Given the description of an element on the screen output the (x, y) to click on. 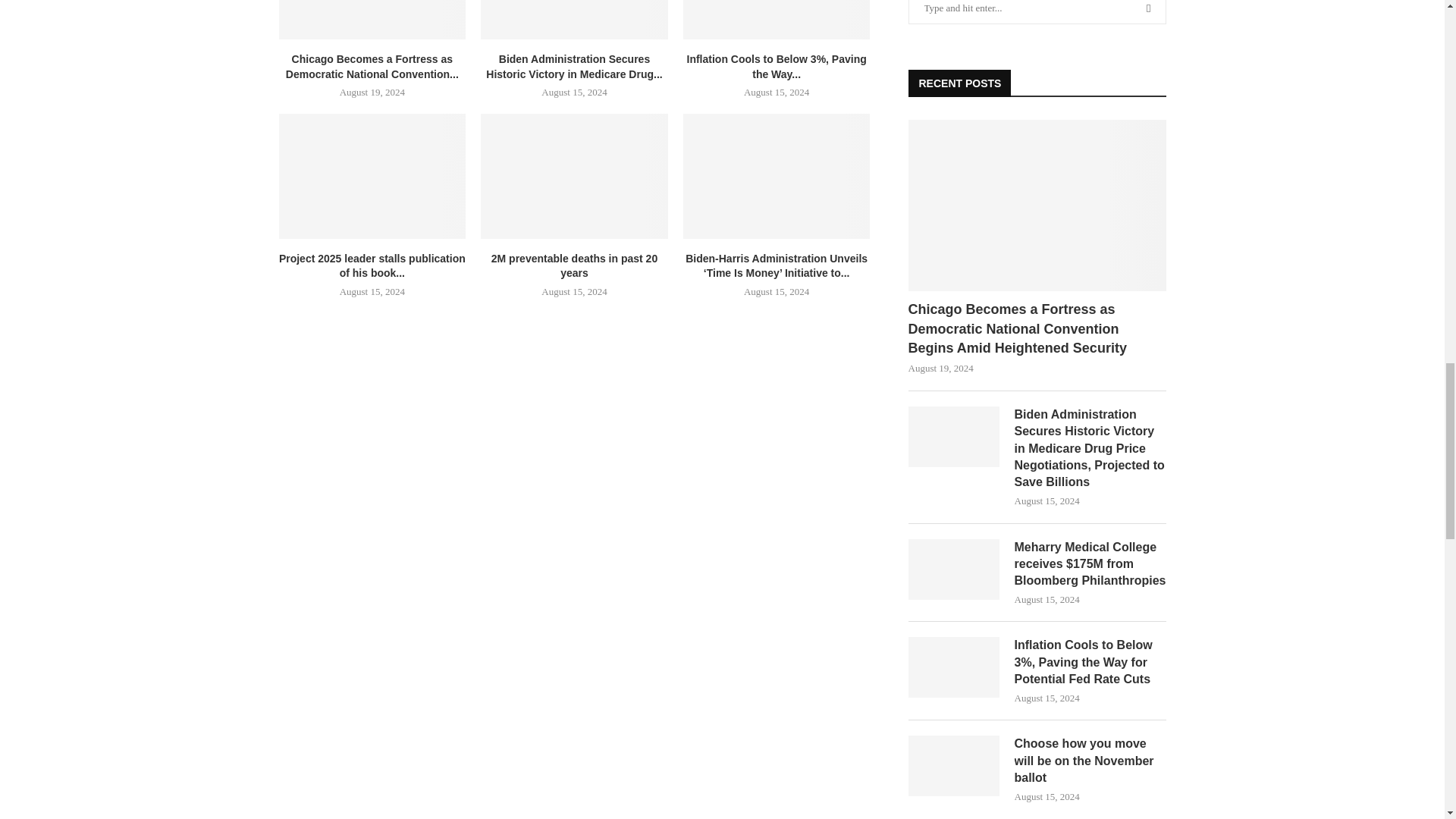
2M preventable deaths in past 20 years (574, 175)
